Given the description of an element on the screen output the (x, y) to click on. 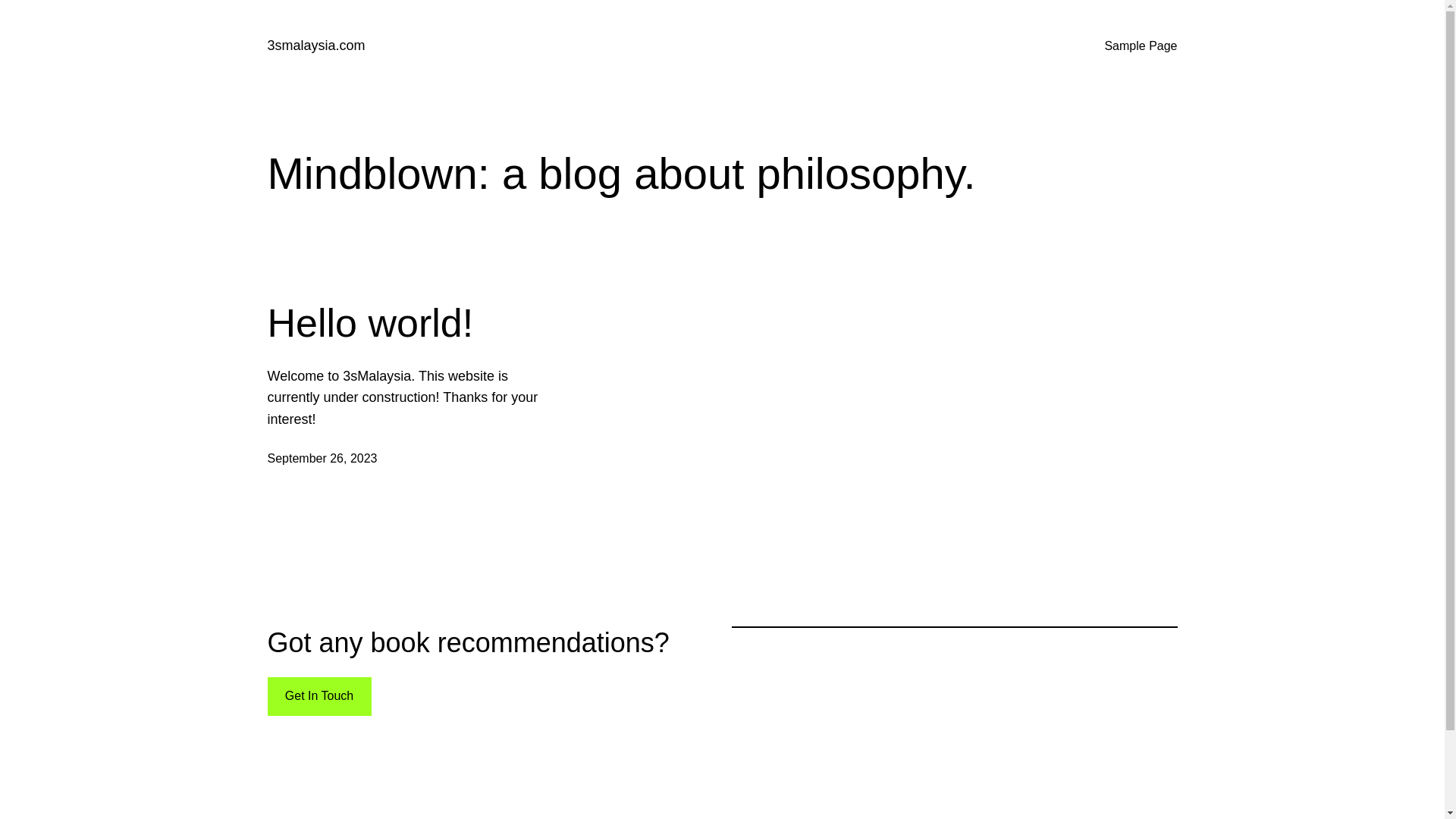
September 26, 2023 Element type: text (321, 457)
Sample Page Element type: text (1140, 46)
Get In Touch Element type: text (318, 696)
3smalaysia.com Element type: text (315, 45)
Hello world! Element type: text (369, 322)
